Given the description of an element on the screen output the (x, y) to click on. 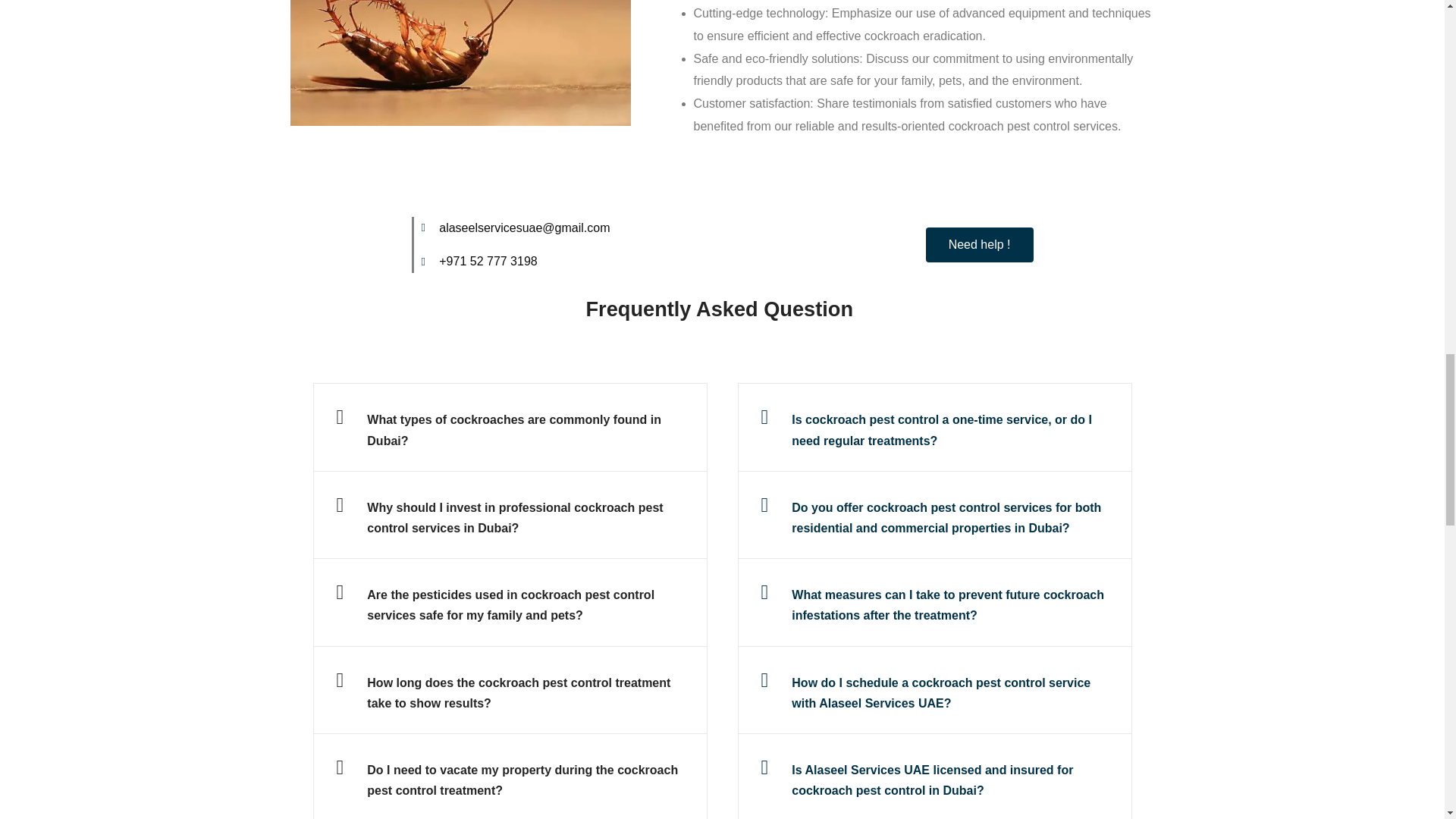
Need help ! (979, 244)
What types of cockroaches are commonly found in Dubai? (513, 429)
